Given the description of an element on the screen output the (x, y) to click on. 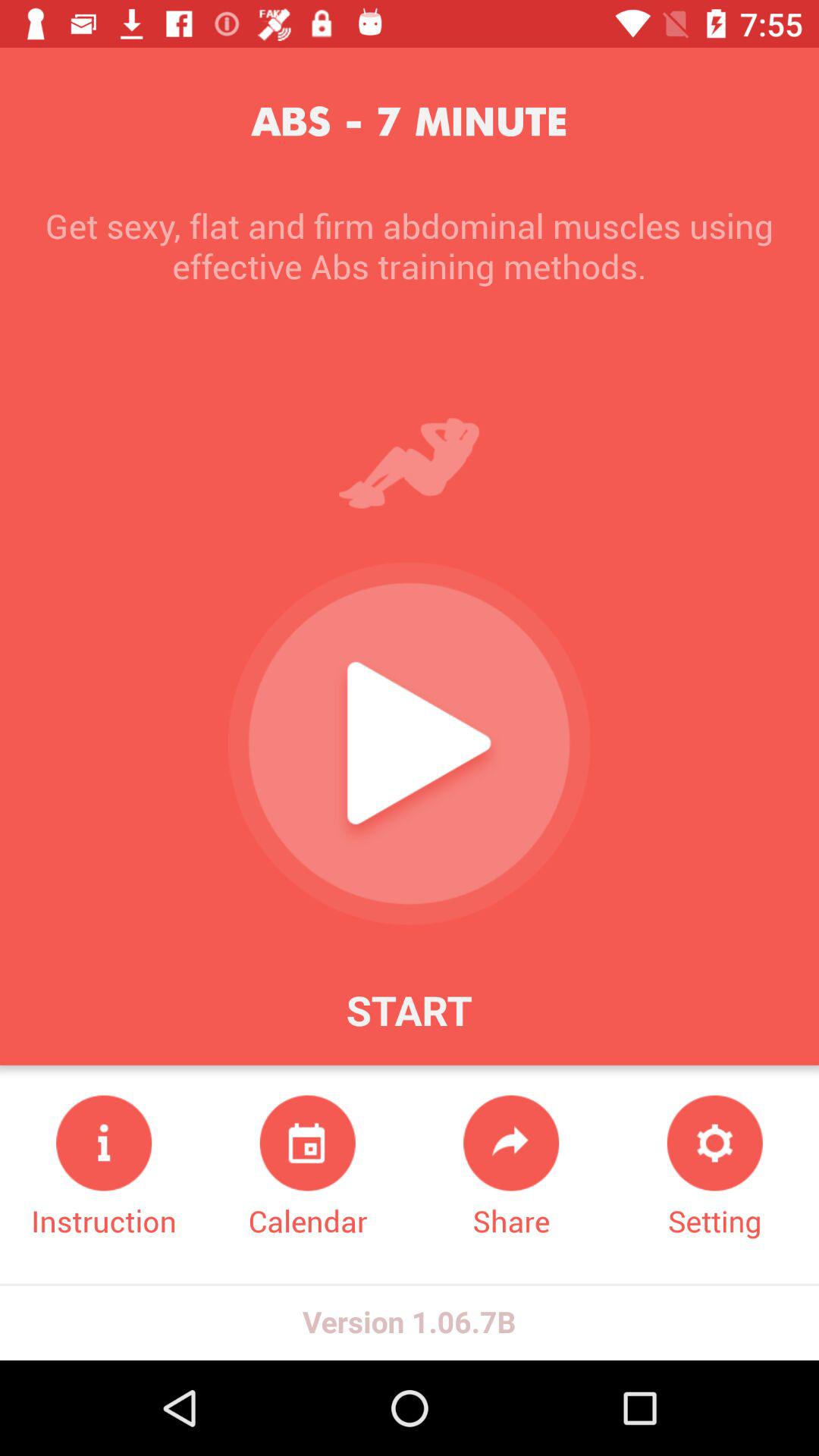
open the setting item (714, 1168)
